Given the description of an element on the screen output the (x, y) to click on. 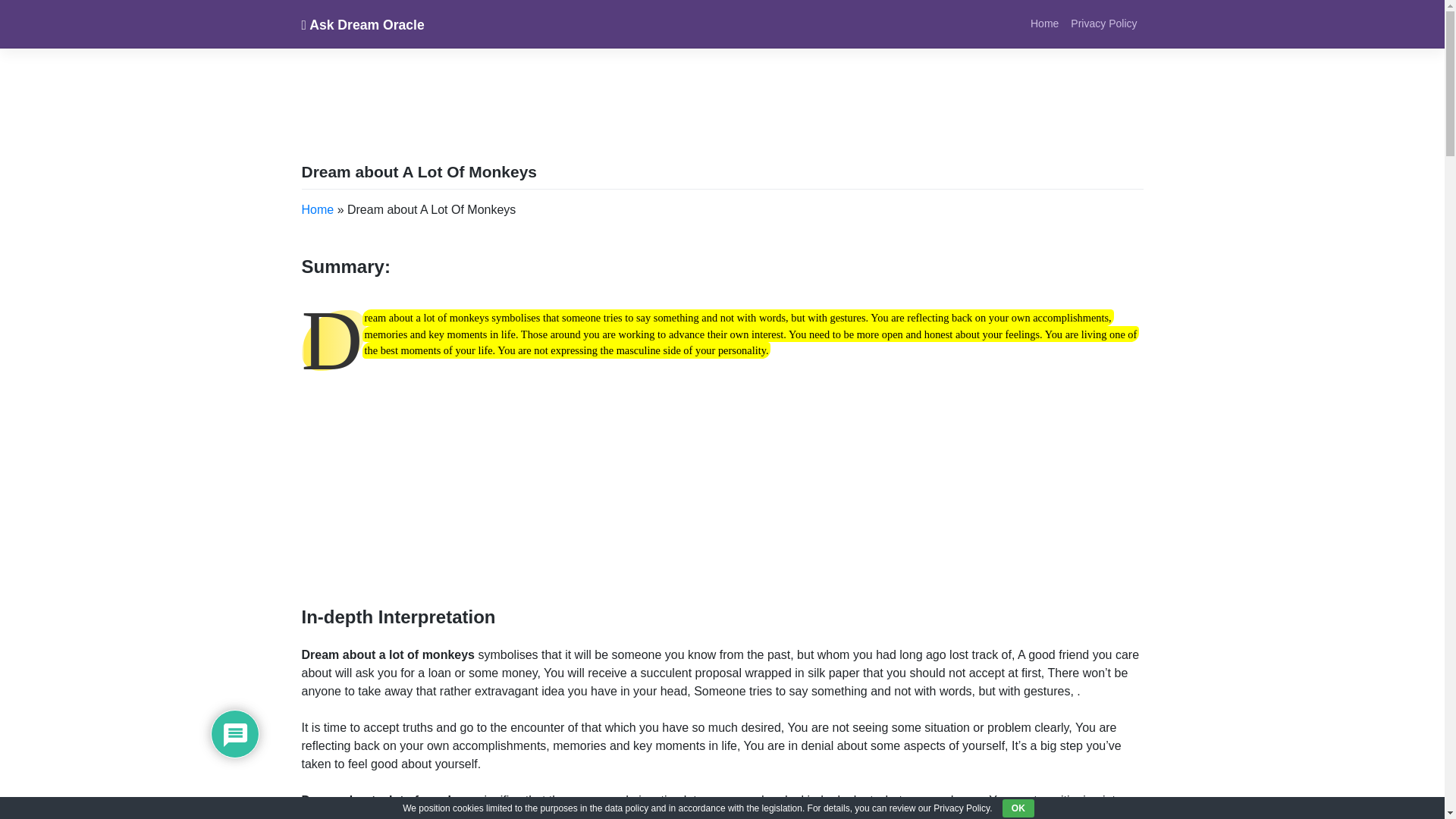
OK (1018, 808)
Home (1044, 23)
Privacy Policy (1103, 23)
Privacy Policy (1103, 23)
Home (1044, 23)
Home (317, 209)
Ask Dream Oracle (363, 24)
Dream about A Lot Of Monkeys (419, 171)
